Given the description of an element on the screen output the (x, y) to click on. 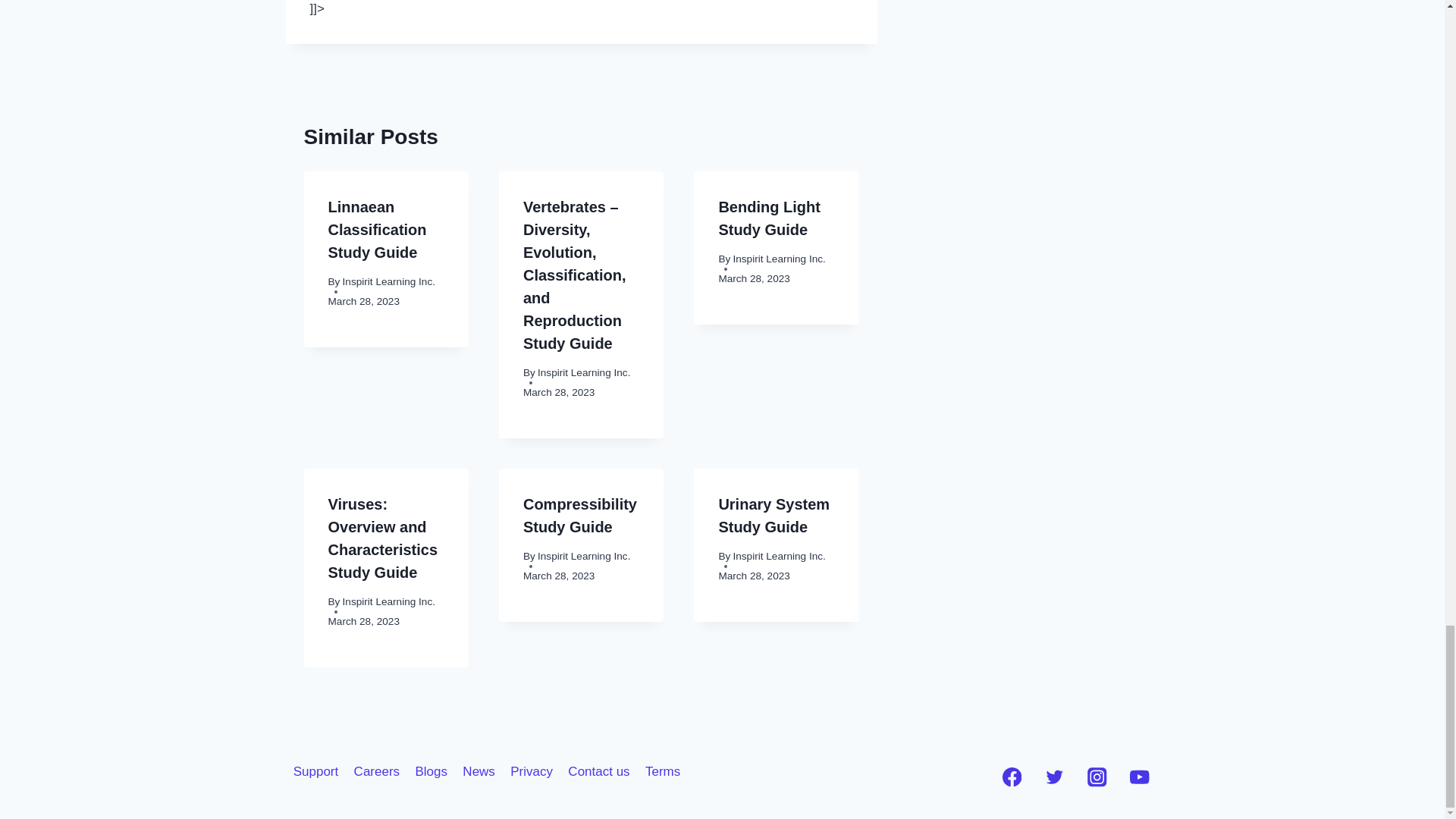
Inspirit Learning Inc. (388, 281)
privacy (531, 771)
support (315, 771)
Bending Light Study Guide (768, 218)
Inspirit Learning Inc. (778, 258)
news (478, 771)
terms (662, 771)
blogs (430, 771)
Linnaean Classification Study Guide (376, 230)
Inspirit Learning Inc. (583, 372)
